Given the description of an element on the screen output the (x, y) to click on. 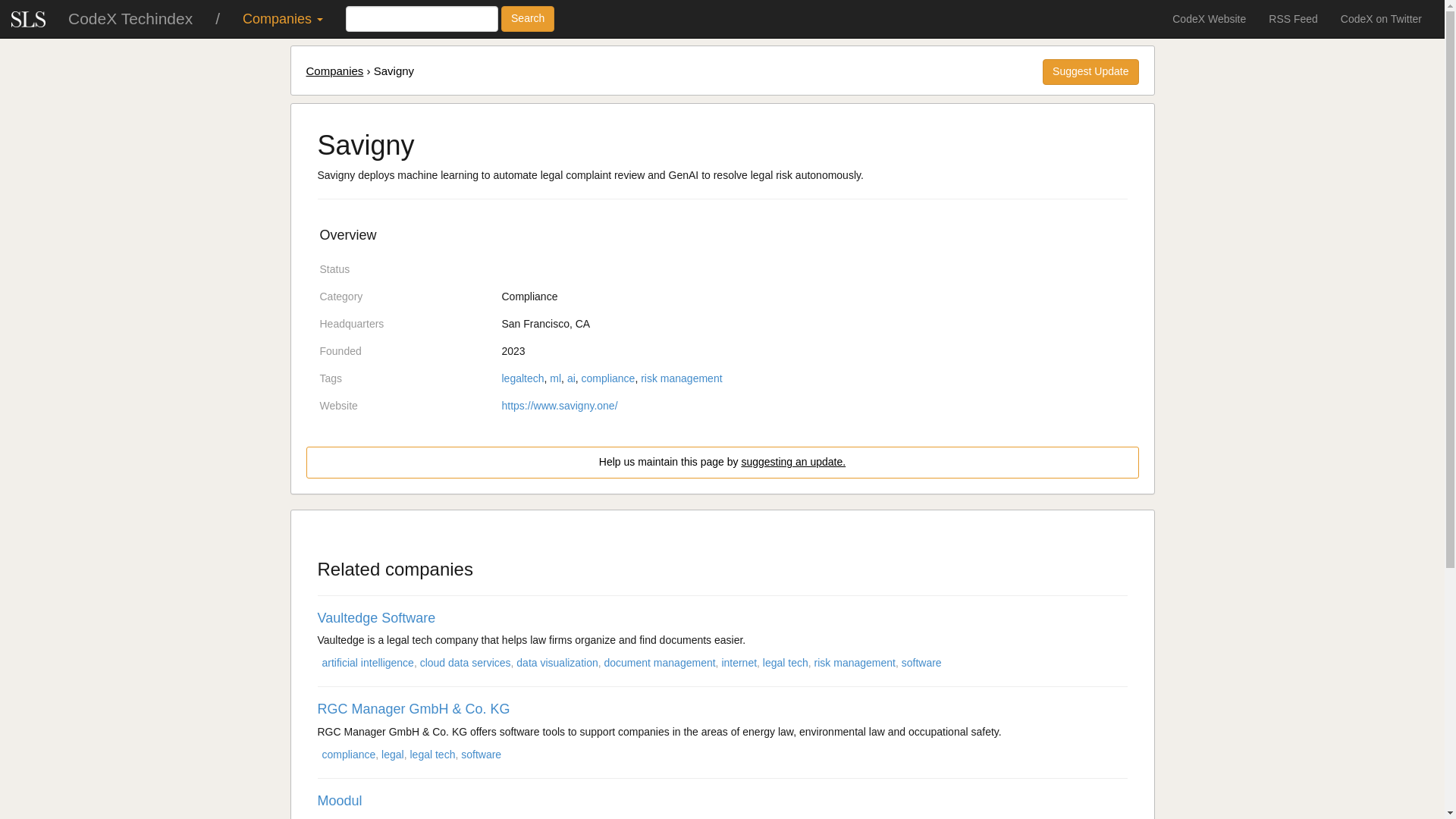
Search (527, 18)
compliance (607, 378)
Search (527, 18)
internet (738, 662)
software (480, 754)
legal tech (785, 662)
CodeX Techindex (129, 18)
document management (659, 662)
Companies (282, 18)
risk management (854, 662)
CodeX Website (1208, 18)
legal tech (431, 754)
ml (555, 378)
legaltech (523, 378)
artificial intelligence (367, 662)
